Given the description of an element on the screen output the (x, y) to click on. 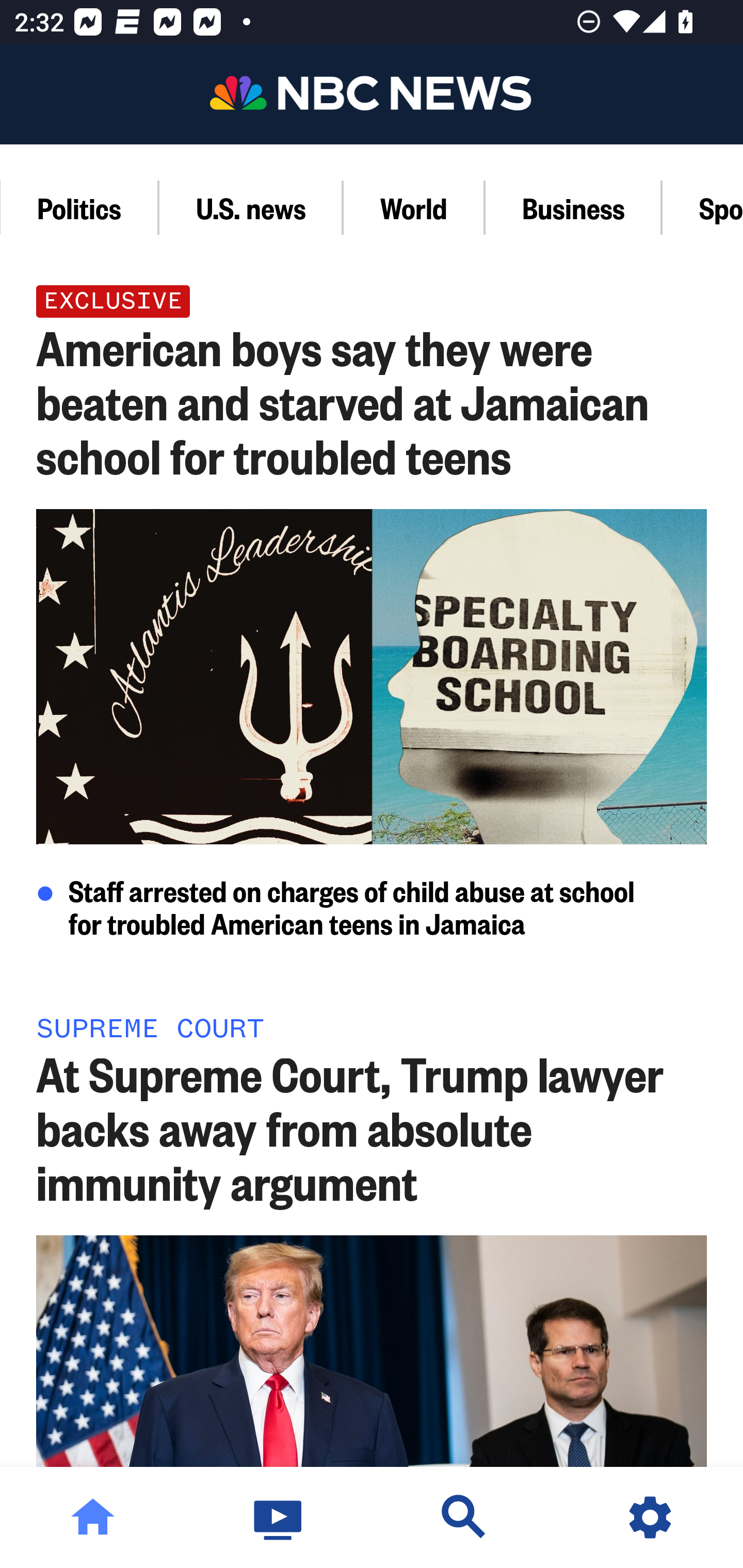
Politics Section,Politics (79, 207)
U.S. news Section,U.S. news (251, 207)
World Section,World (414, 207)
Business Section,Business (573, 207)
Watch (278, 1517)
Discover (464, 1517)
Settings (650, 1517)
